Given the description of an element on the screen output the (x, y) to click on. 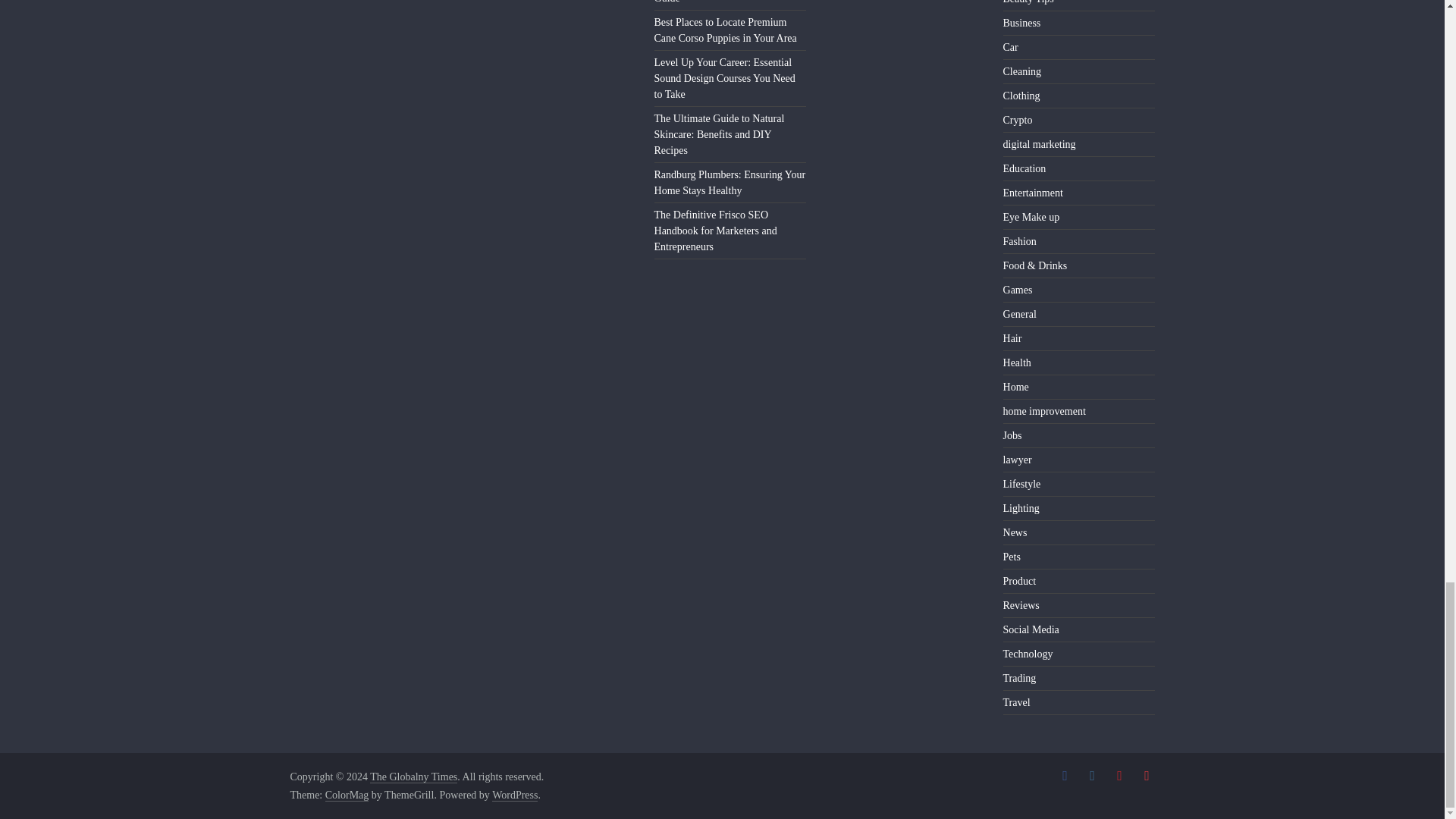
The Globalny Times (413, 776)
ColorMag (346, 795)
WordPress (514, 795)
